Given the description of an element on the screen output the (x, y) to click on. 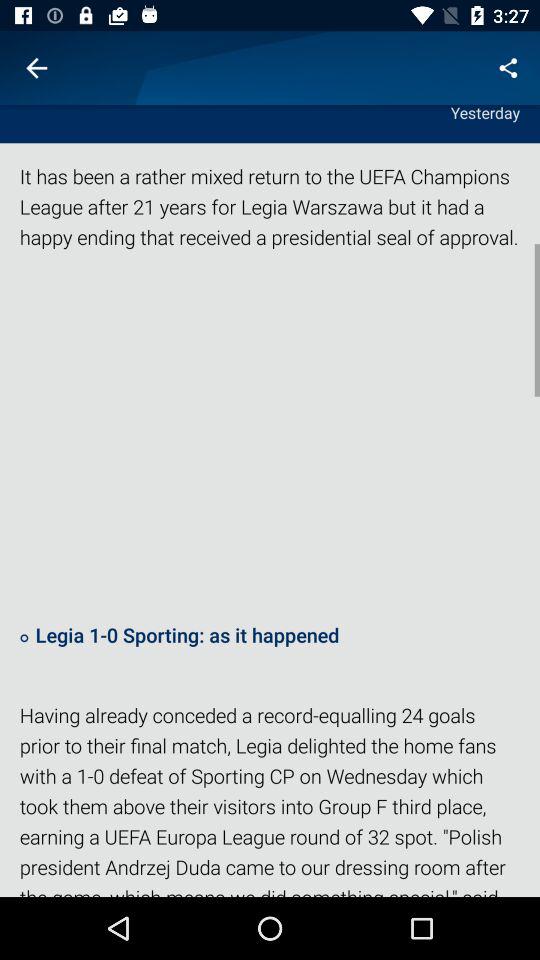
launch item above the legia 1 0 icon (269, 435)
